Given the description of an element on the screen output the (x, y) to click on. 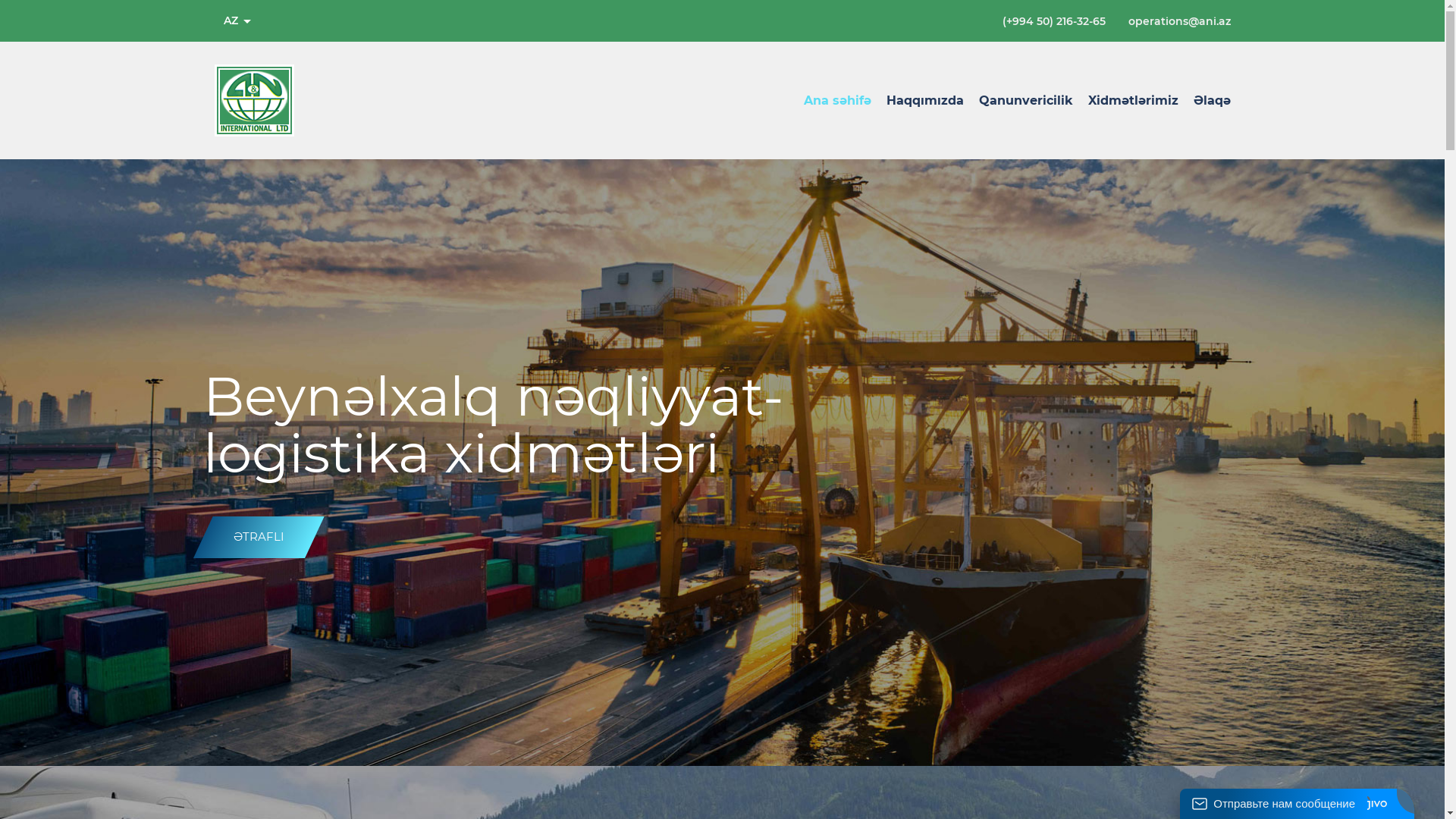
operations@ani.az Element type: text (1179, 20)
(+994 50) 216-32-65 Element type: text (1053, 20)
AZ Element type: text (236, 20)
Qanunvericilik Element type: text (1025, 99)
